Given the description of an element on the screen output the (x, y) to click on. 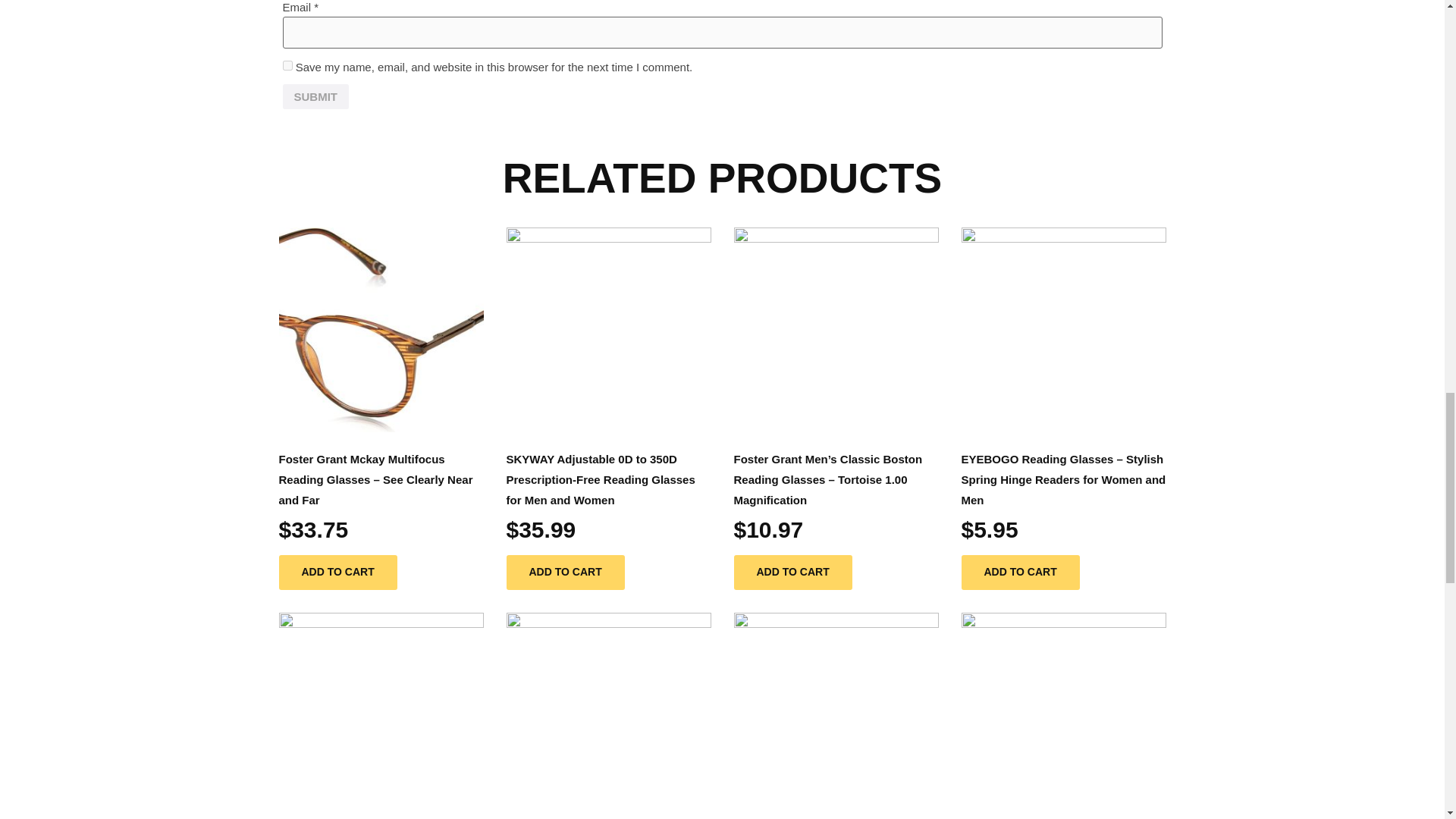
yes (287, 65)
ADD TO CART (792, 572)
Submit (315, 96)
ADD TO CART (338, 572)
ADD TO CART (565, 572)
Submit (315, 96)
